Given the description of an element on the screen output the (x, y) to click on. 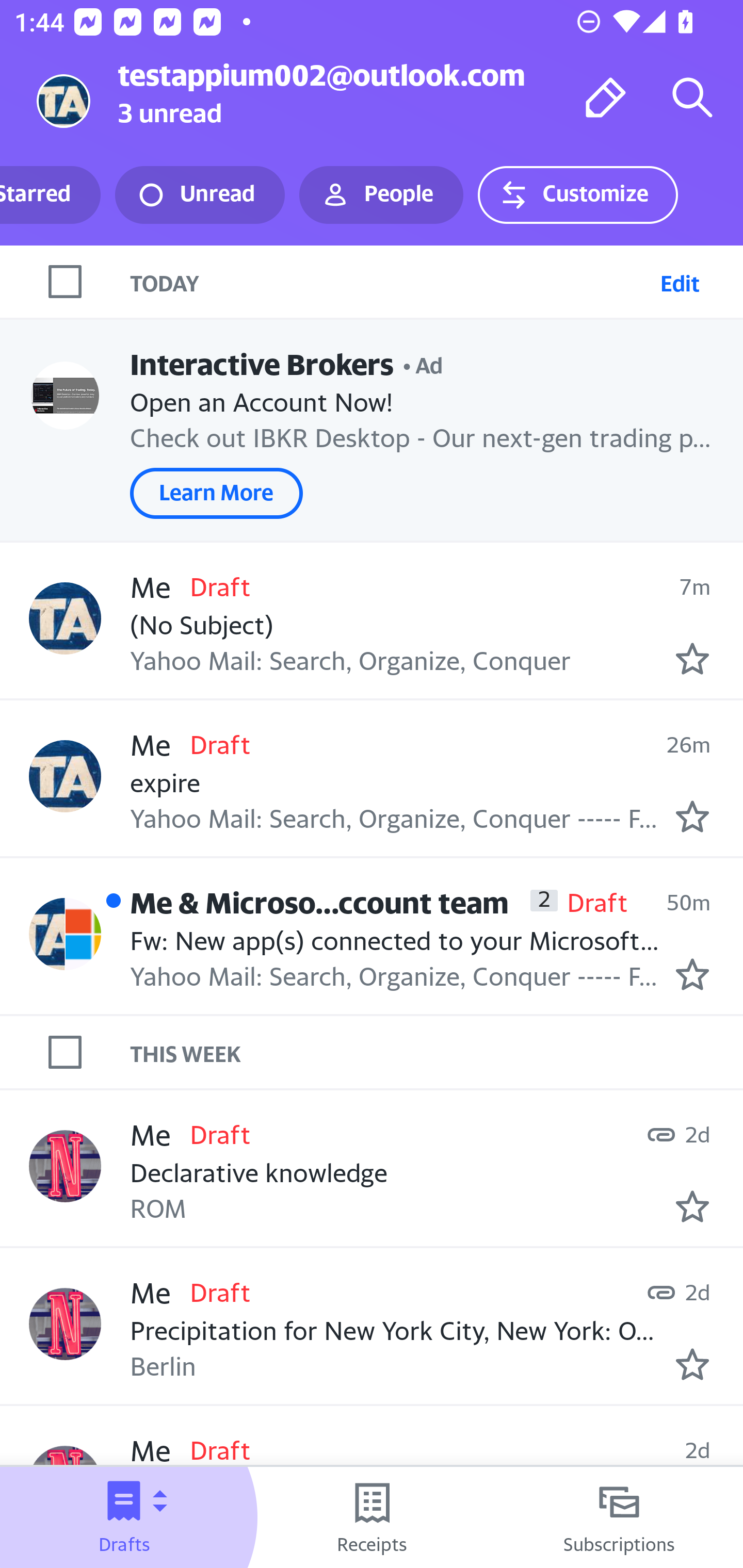
Compose (605, 97)
Search mail (692, 97)
Unread (199, 195)
People (381, 195)
Customize (577, 195)
TODAY (391, 281)
Edit Select emails (679, 281)
Profile
Me (64, 617)
Mark as starred. (692, 659)
Profile
Me (64, 776)
Mark as starred. (692, 816)
Profile
Me & Microsoft account team (64, 934)
Mark as starred. (692, 974)
THIS WEEK (436, 1052)
Profile
Me (64, 1166)
Mark as starred. (692, 1206)
Profile
Me (64, 1323)
Mark as starred. (692, 1364)
Drafts Folder picker (123, 1517)
Receipts (371, 1517)
Subscriptions (619, 1517)
